Given the description of an element on the screen output the (x, y) to click on. 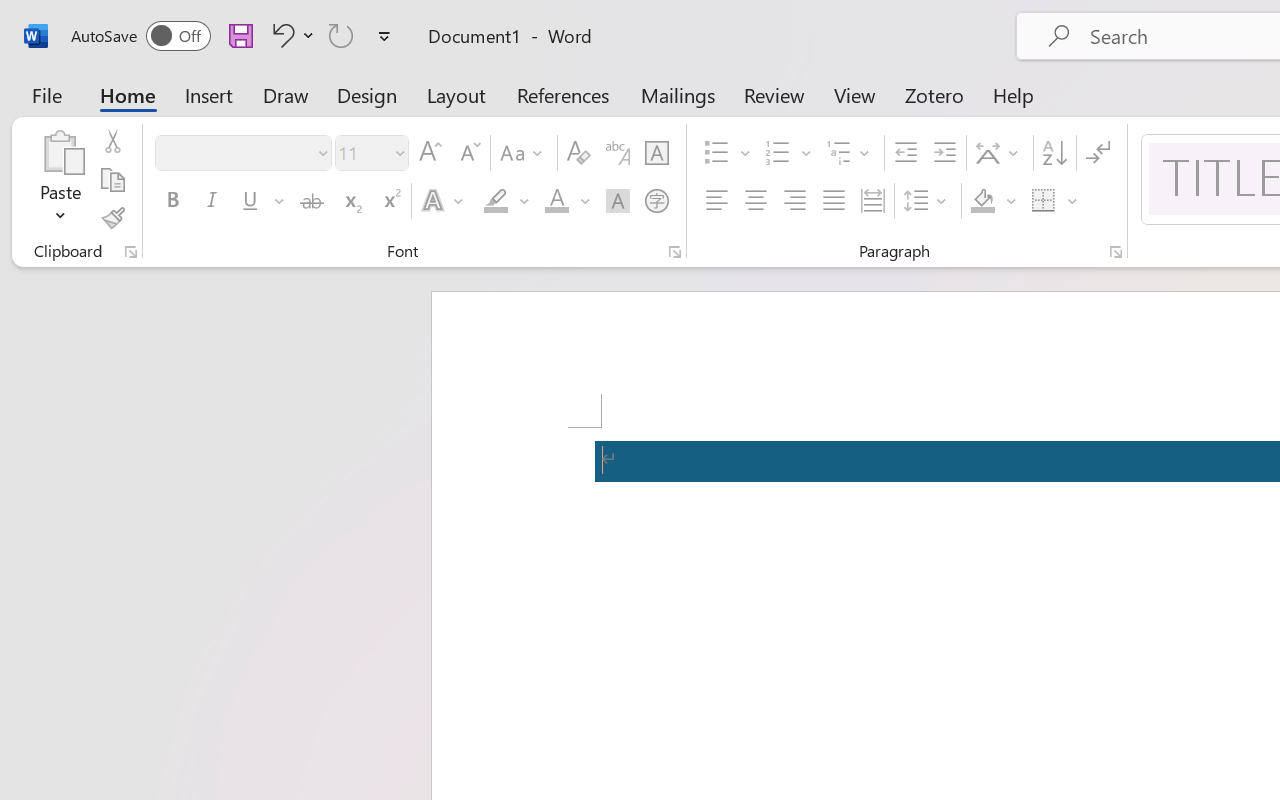
Undo Apply Quick Style Set (280, 35)
